Given the description of an element on the screen output the (x, y) to click on. 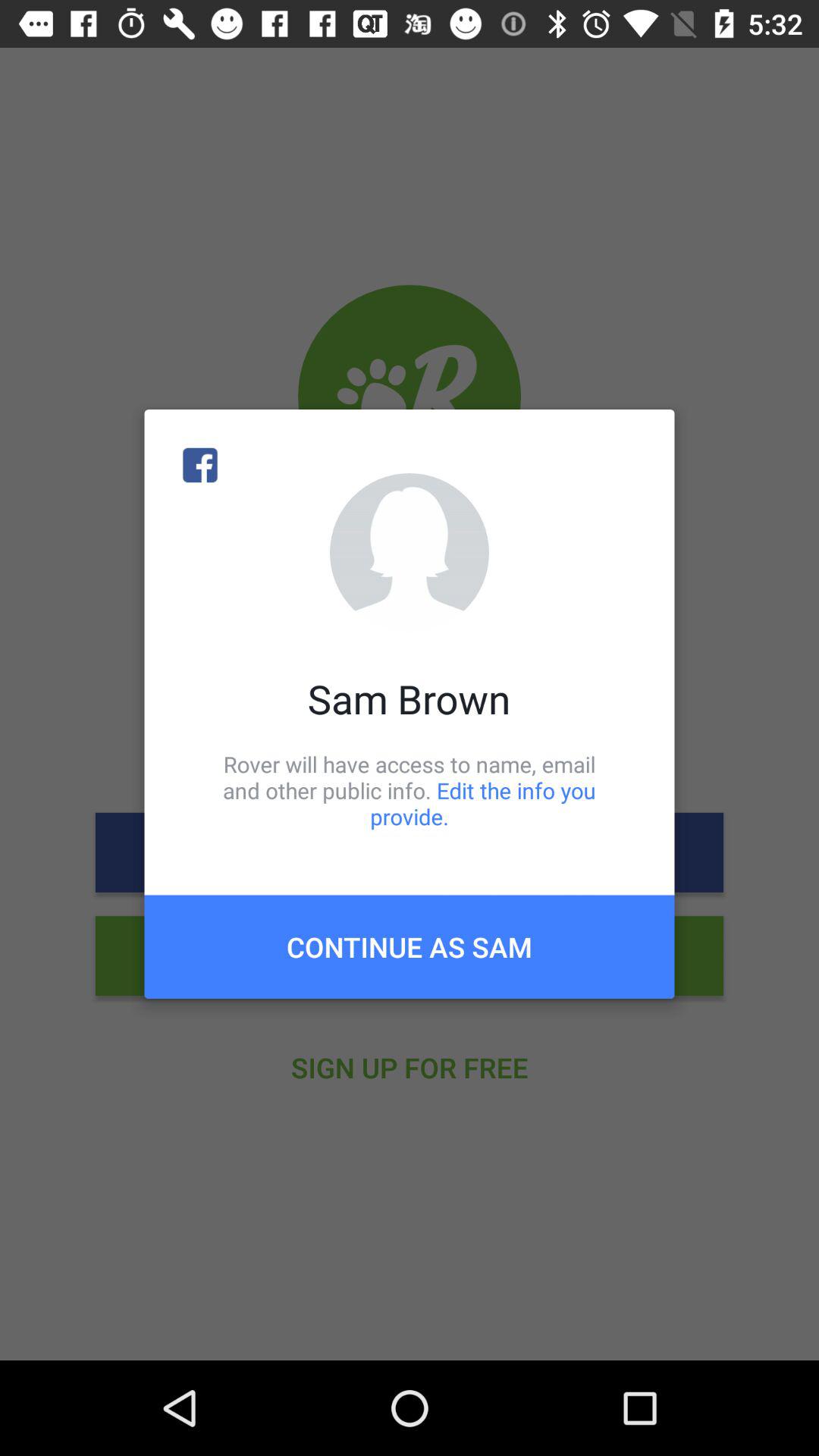
scroll until the rover will have icon (409, 790)
